Given the description of an element on the screen output the (x, y) to click on. 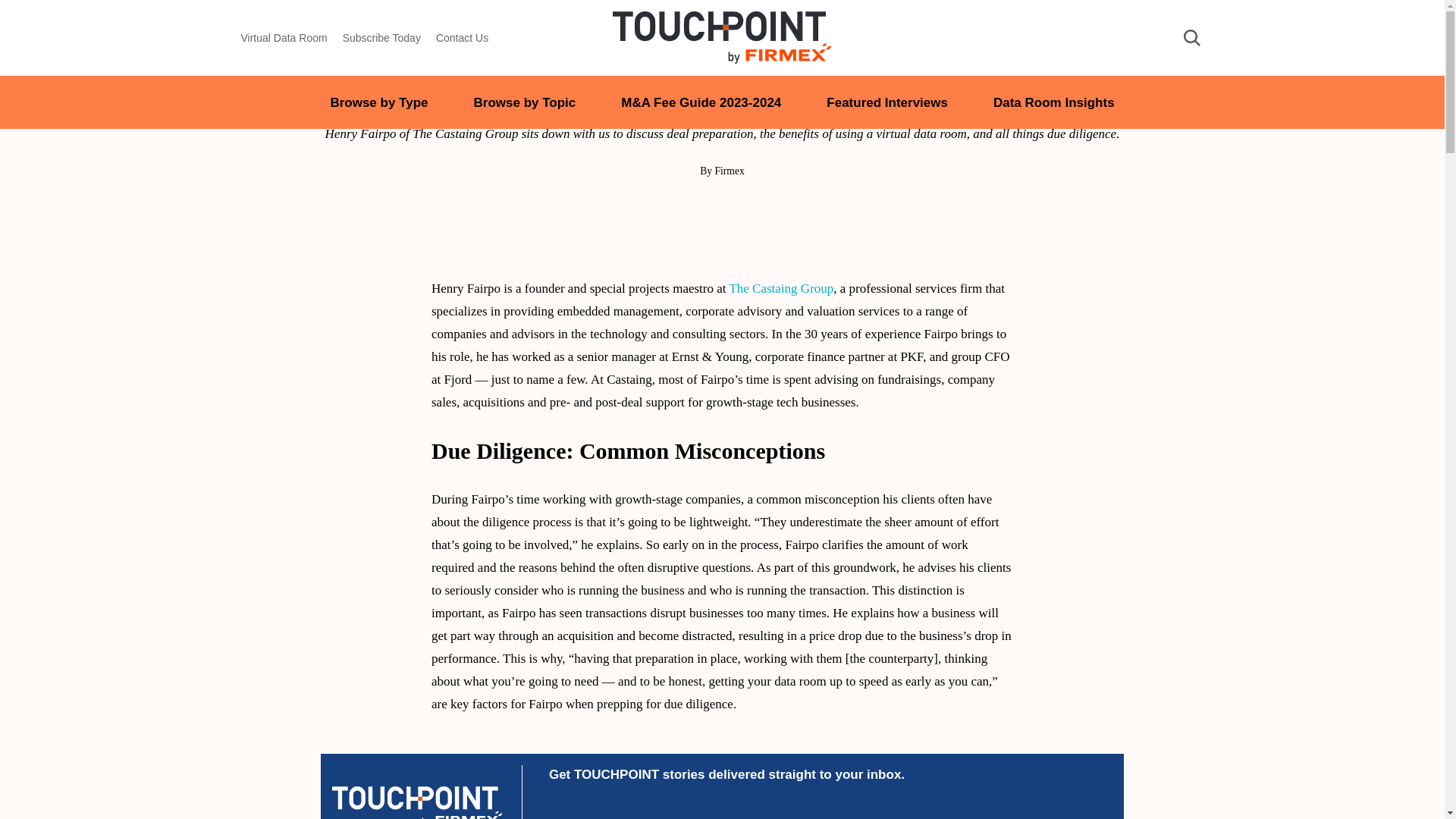
Data Room Insights (1053, 102)
Contact Us (461, 37)
Featured Interviews (887, 102)
Virtual Data Room (284, 37)
Browse by Topic (525, 102)
Click to share on Facebook (753, 208)
Browse by Type (379, 102)
Click to share on LinkedIn (689, 208)
Click to share on Twitter (721, 208)
The Castaing Group (780, 288)
